Given the description of an element on the screen output the (x, y) to click on. 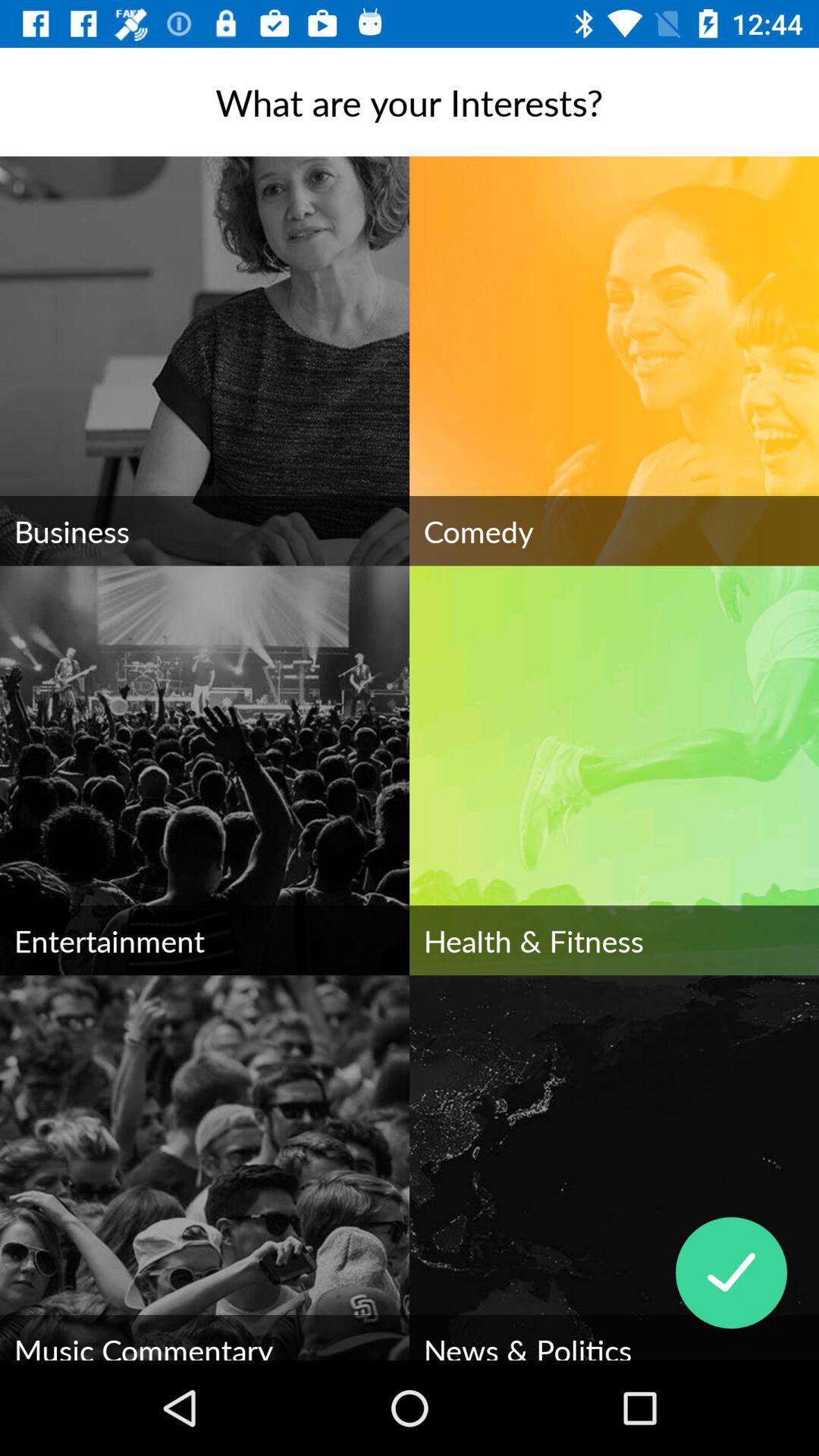
select the image health  fitness on the web page (614, 770)
